Given the description of an element on the screen output the (x, y) to click on. 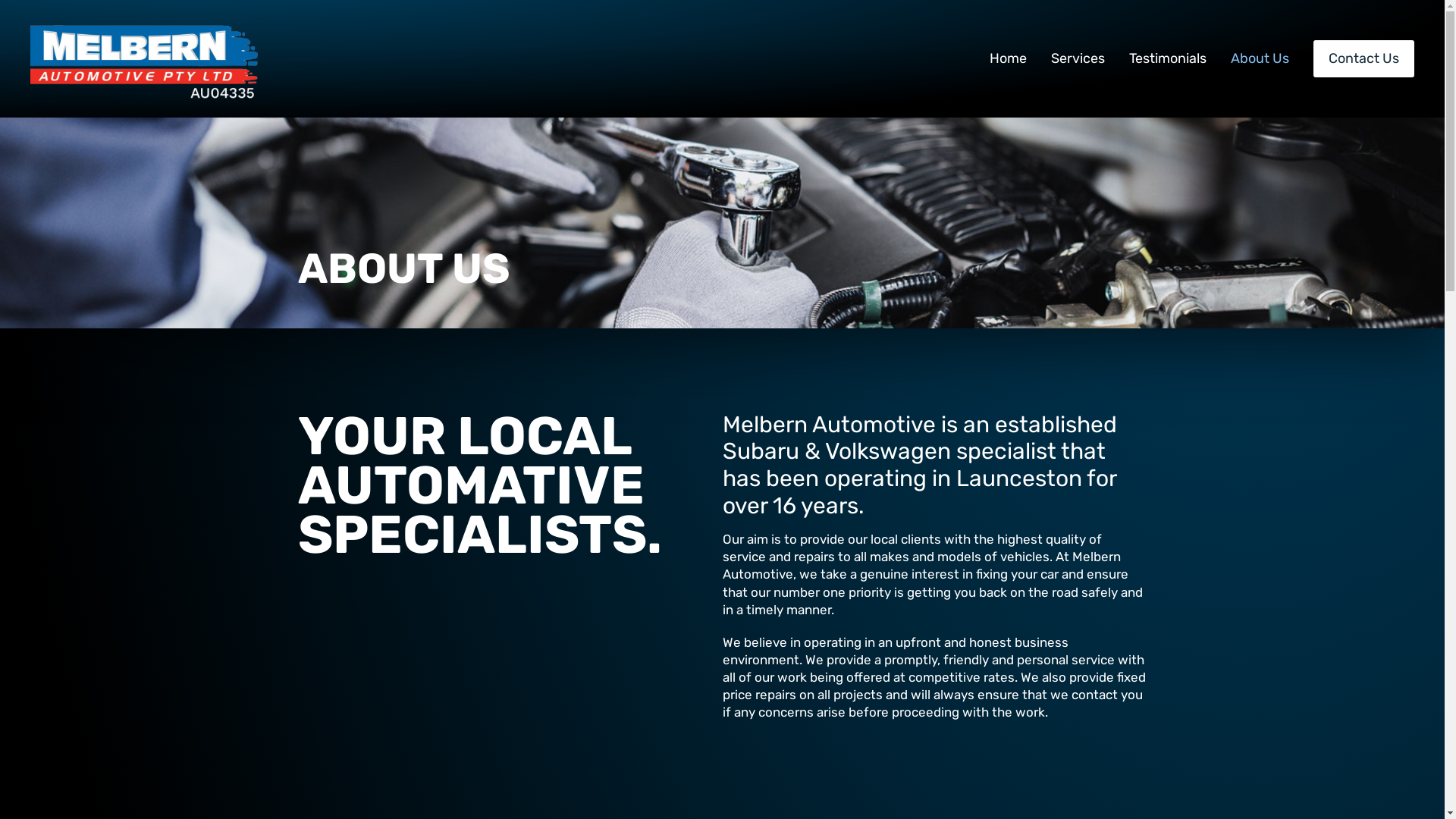
Services Element type: text (1077, 58)
Testimonials Element type: text (1167, 58)
About Us Element type: text (1259, 58)
Contact Us Element type: text (1363, 58)
Home Element type: text (1007, 58)
